Given the description of an element on the screen output the (x, y) to click on. 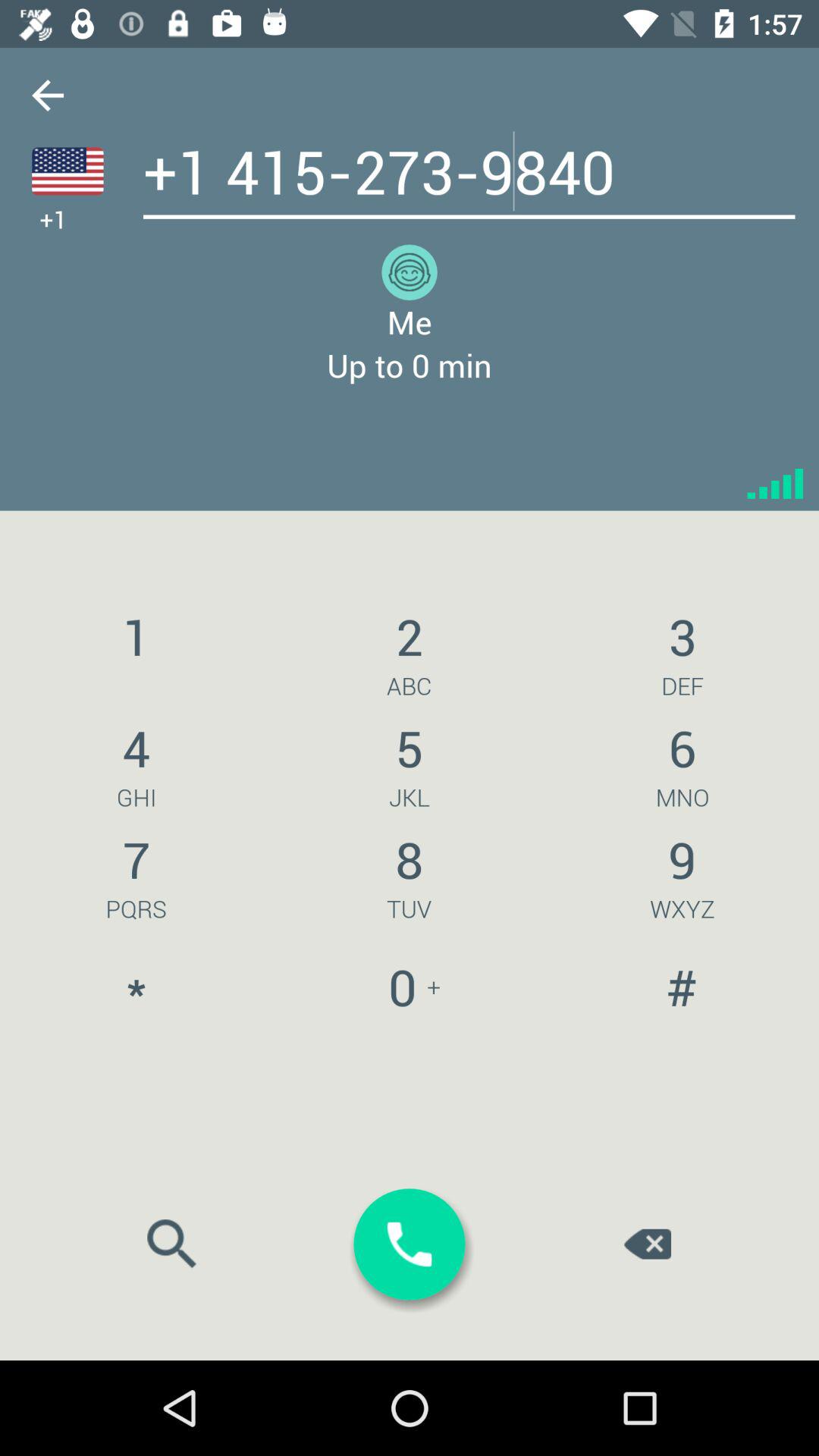
call button (409, 1244)
